Given the description of an element on the screen output the (x, y) to click on. 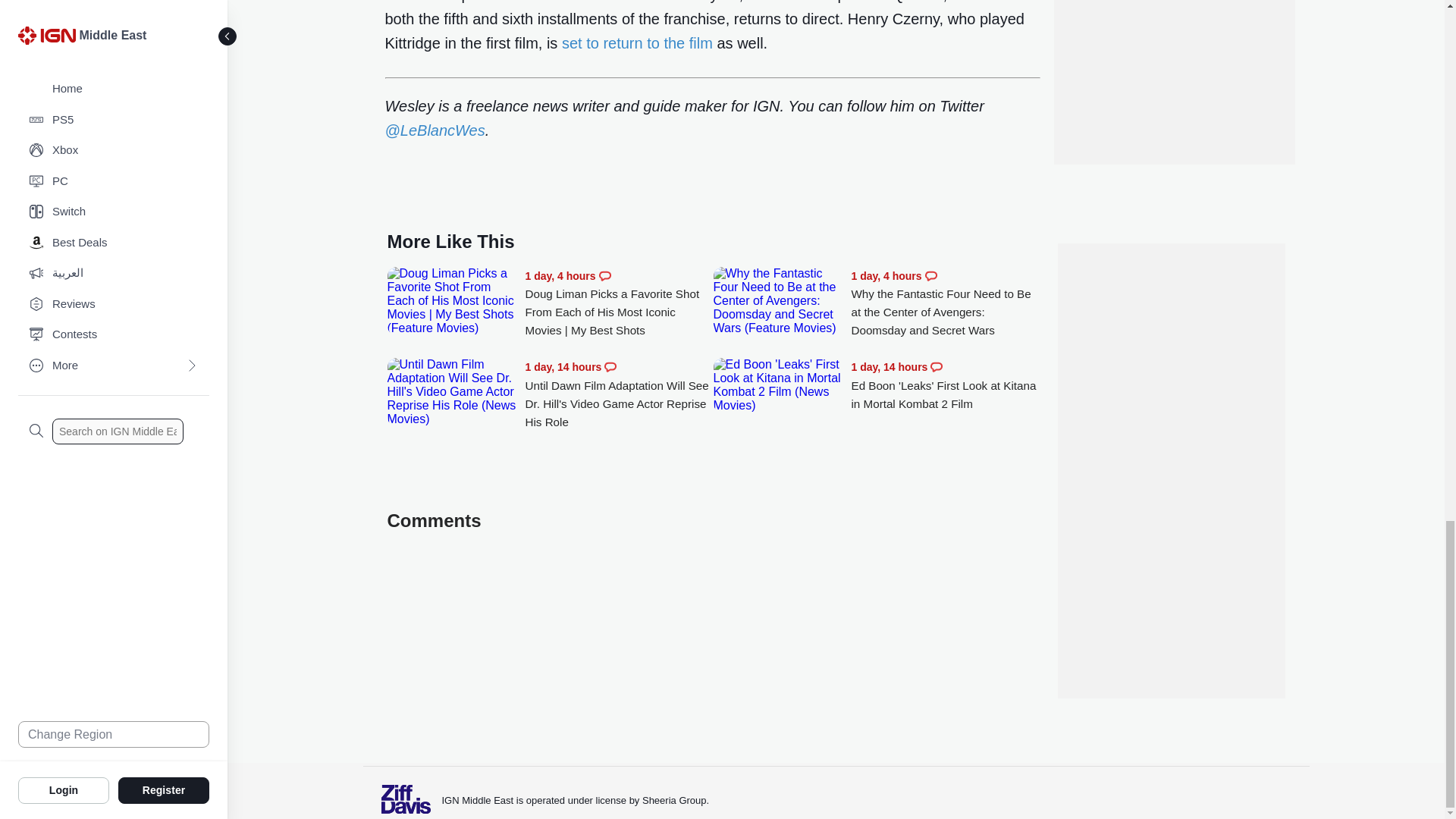
Ed Boon 'Leaks' First Look at Kitana in Mortal Kombat 2 Film (778, 384)
Comments (936, 367)
Comments (609, 367)
Ed Boon 'Leaks' First Look at Kitana in Mortal Kombat 2 Film (944, 385)
Comments (604, 275)
Comments (930, 275)
